Given the description of an element on the screen output the (x, y) to click on. 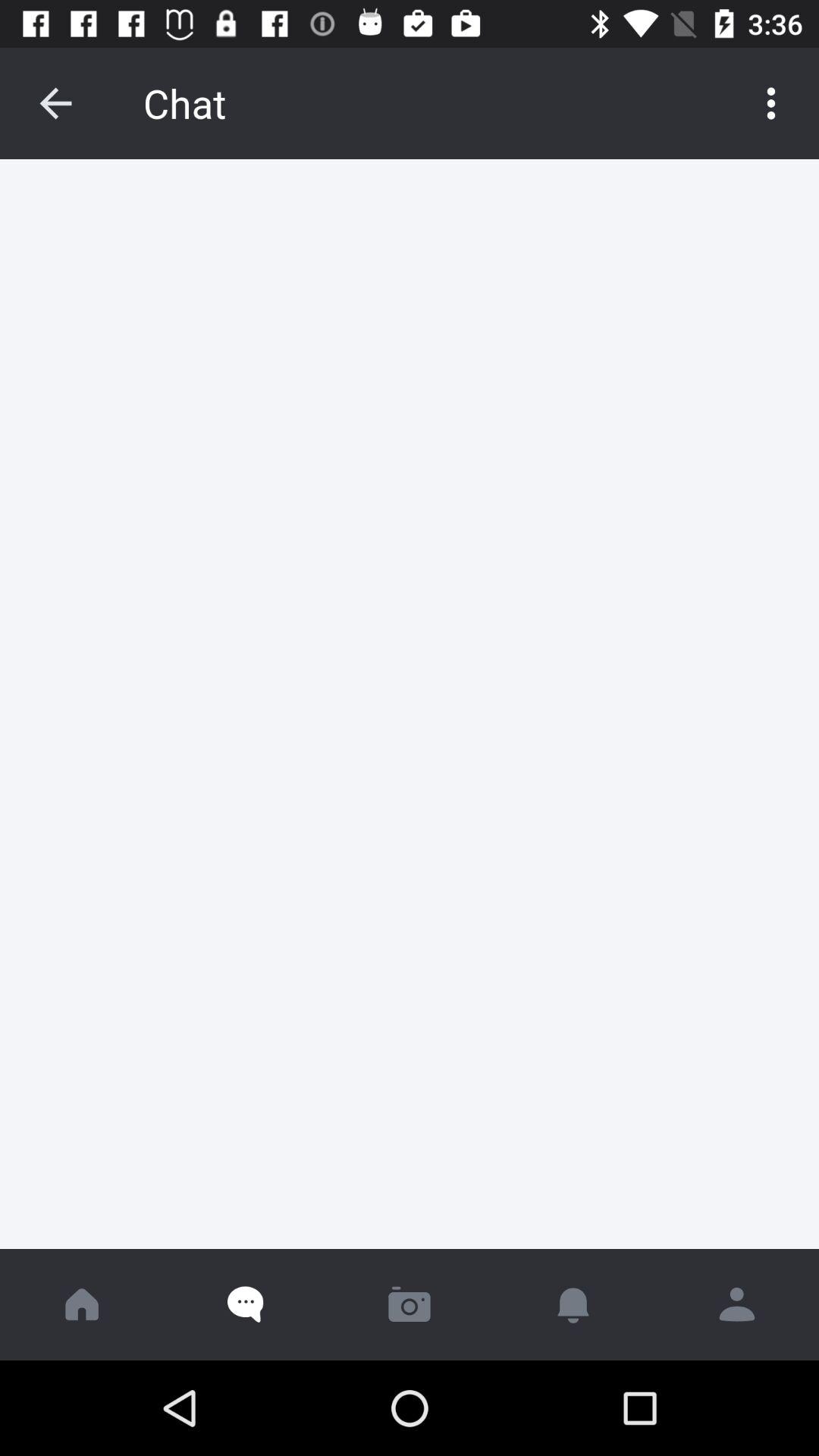
click to go home (81, 1304)
